Given the description of an element on the screen output the (x, y) to click on. 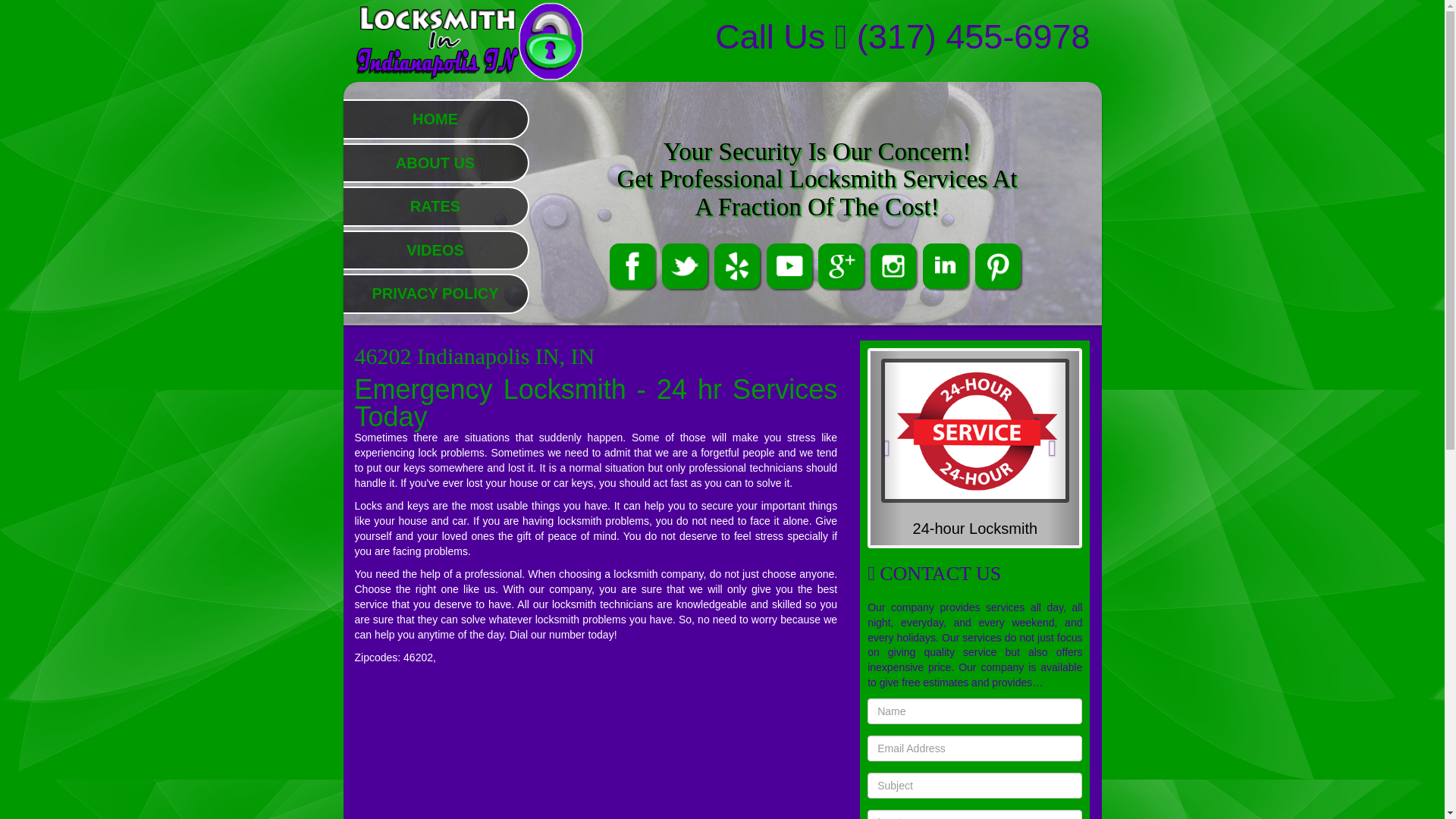
CONTACT US (934, 573)
Facebook (634, 264)
24-hour Locksmith (975, 528)
ABOUT US (435, 162)
Instagram (895, 264)
RATES (435, 206)
Pinterest (1000, 264)
PRIVACY POLICY (434, 293)
LinkedIn (947, 264)
VIDEOS (435, 249)
